Given the description of an element on the screen output the (x, y) to click on. 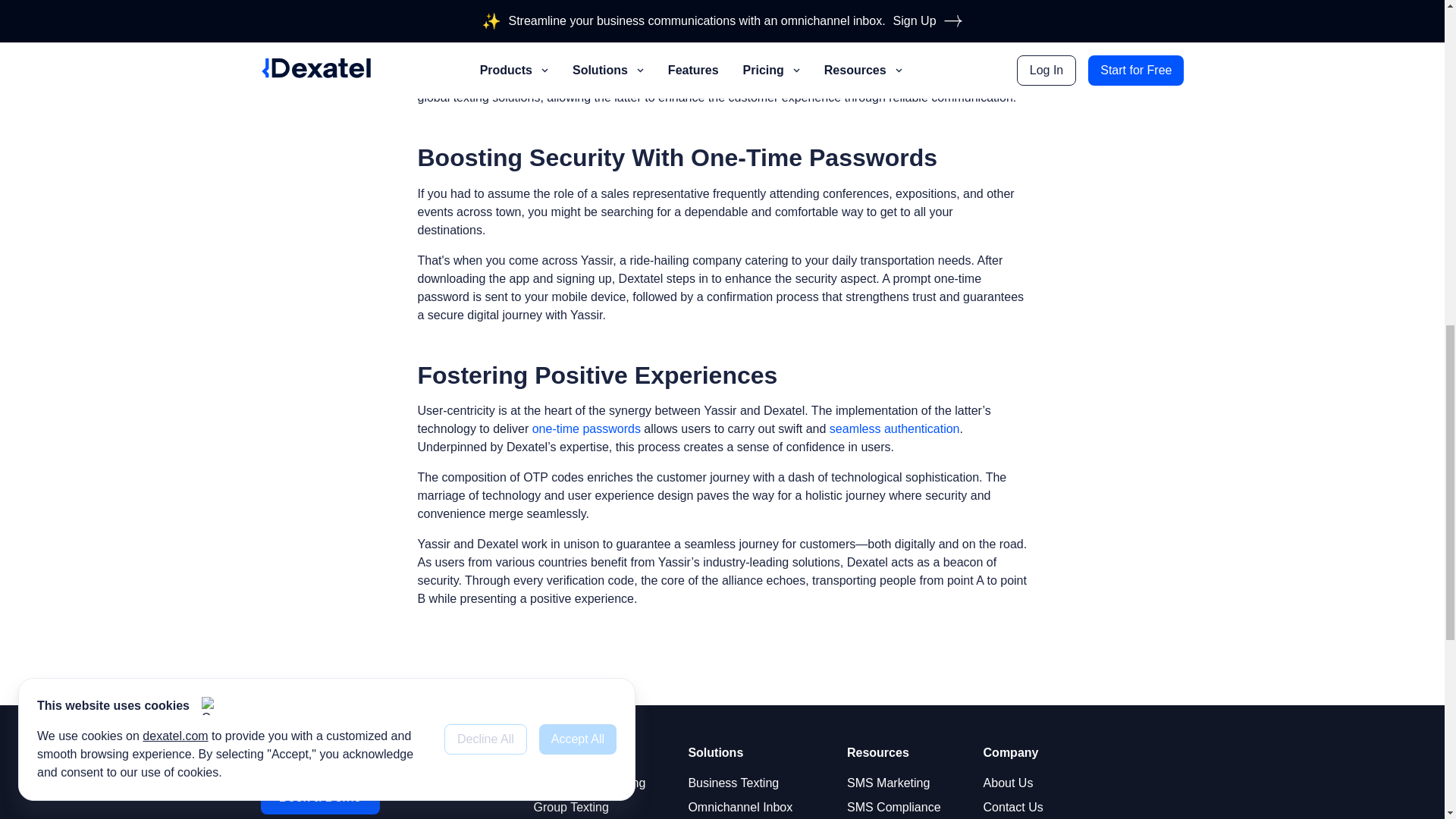
SMS Authentication Service (894, 428)
What is OTP? (586, 428)
Schedule Your Business Messaging Demo Today (320, 796)
